Given the description of an element on the screen output the (x, y) to click on. 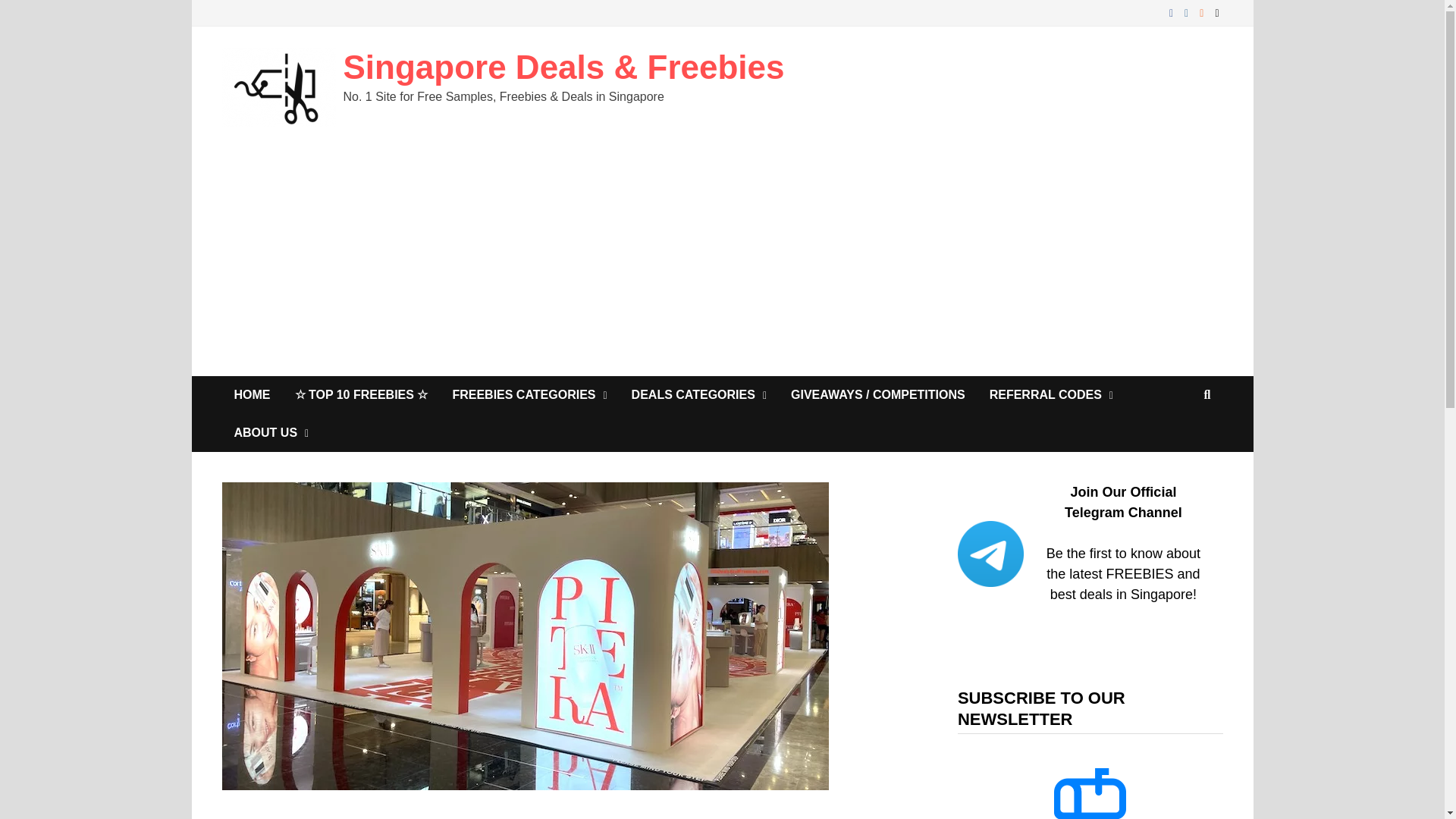
DEALS CATEGORIES (699, 394)
REFERRAL CODES (1050, 394)
HOME (251, 394)
RSS (1203, 11)
FREEBIES CATEGORIES (528, 394)
Instagram (1187, 11)
Facebook (1173, 11)
ABOUT US (270, 433)
